Given the description of an element on the screen output the (x, y) to click on. 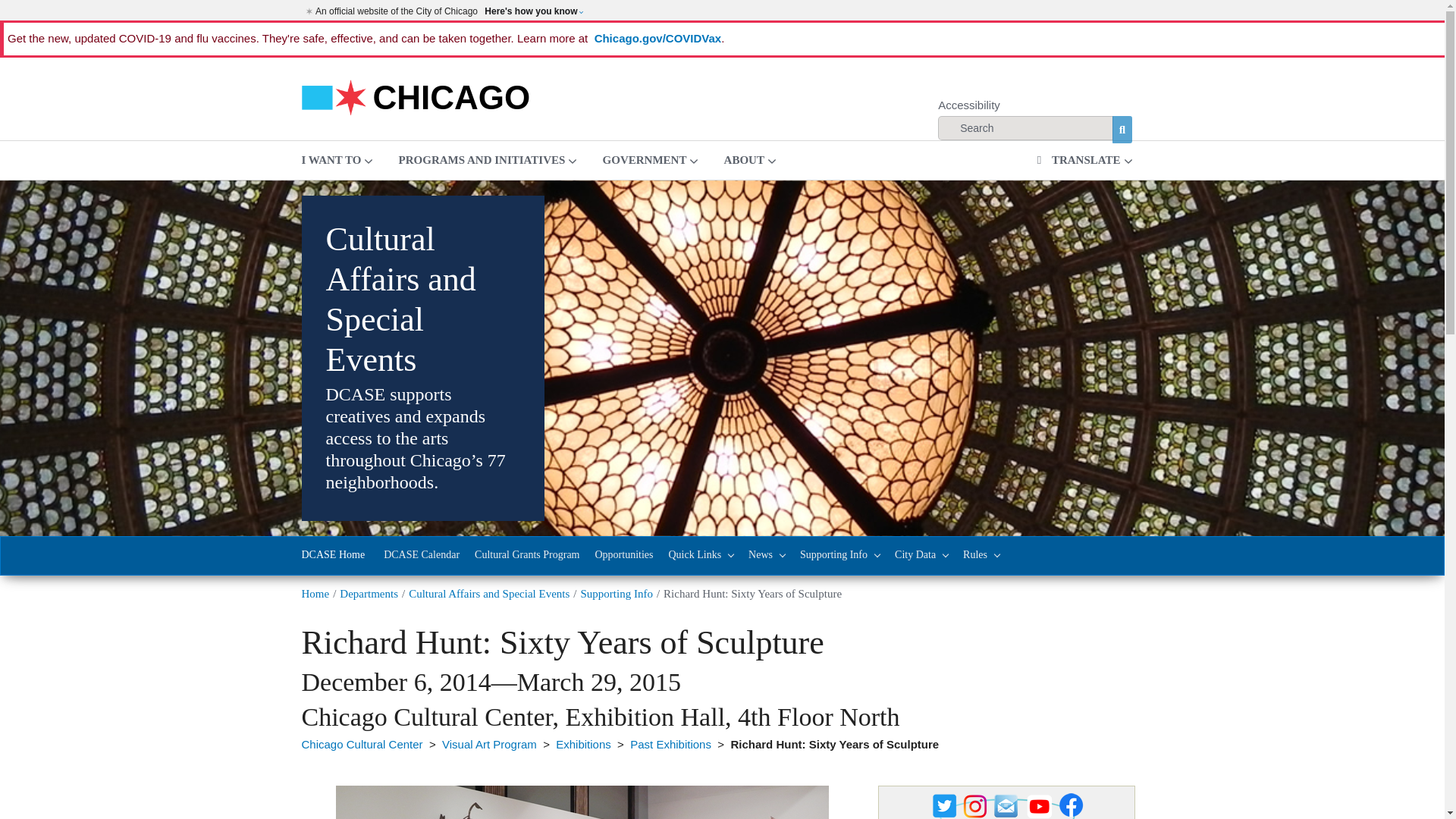
Home (416, 94)
PROGRAMS AND INITIATIVES (487, 159)
Here's how you know (533, 11)
CHICAGO (416, 94)
I WANT TO (336, 159)
Programs and Initiatives (487, 159)
GOVERNMENT (650, 159)
Cultural Affairs and Special Events Home (333, 555)
Government (650, 159)
